Given the description of an element on the screen output the (x, y) to click on. 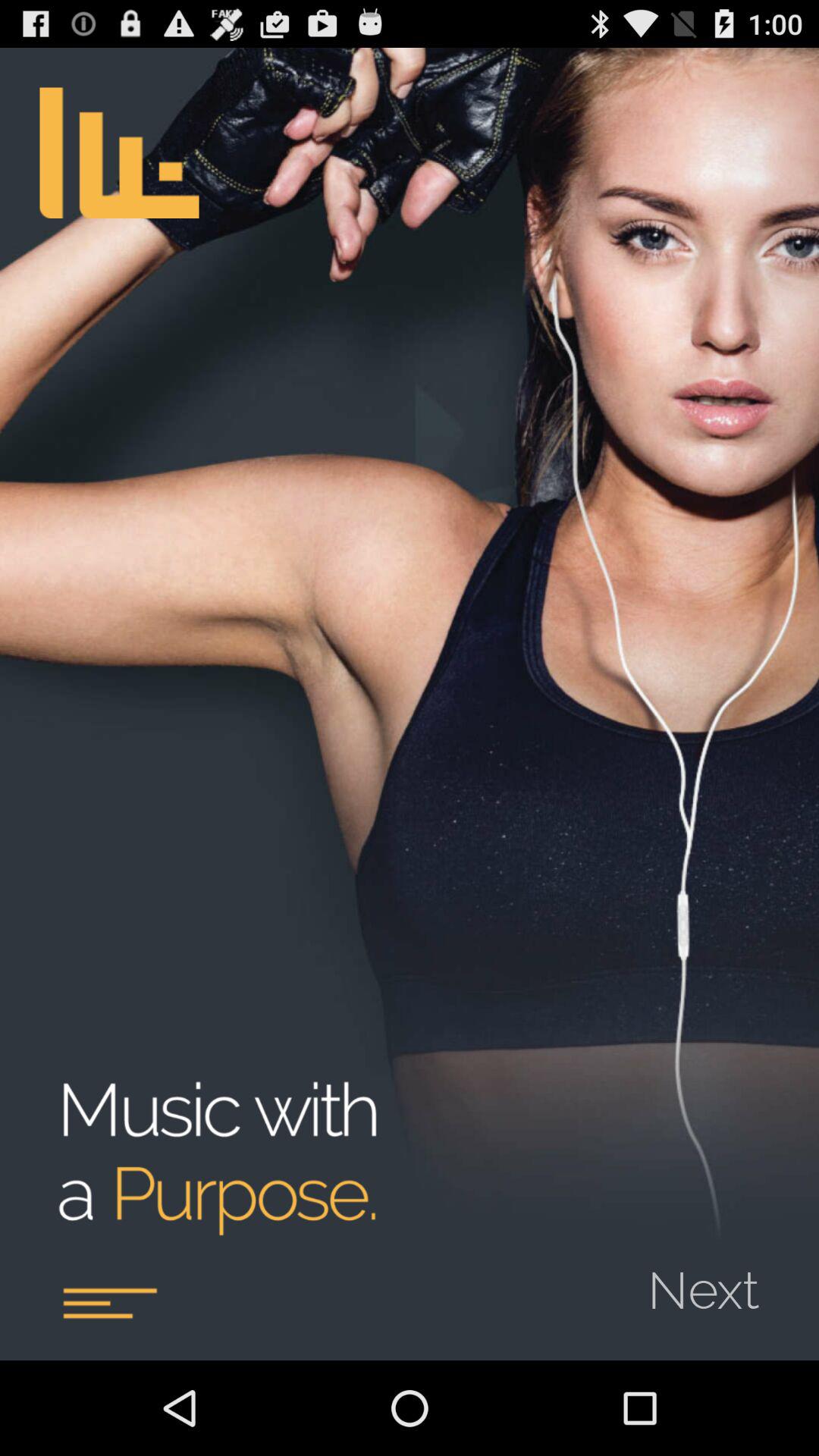
turn off next icon (713, 1280)
